Given the description of an element on the screen output the (x, y) to click on. 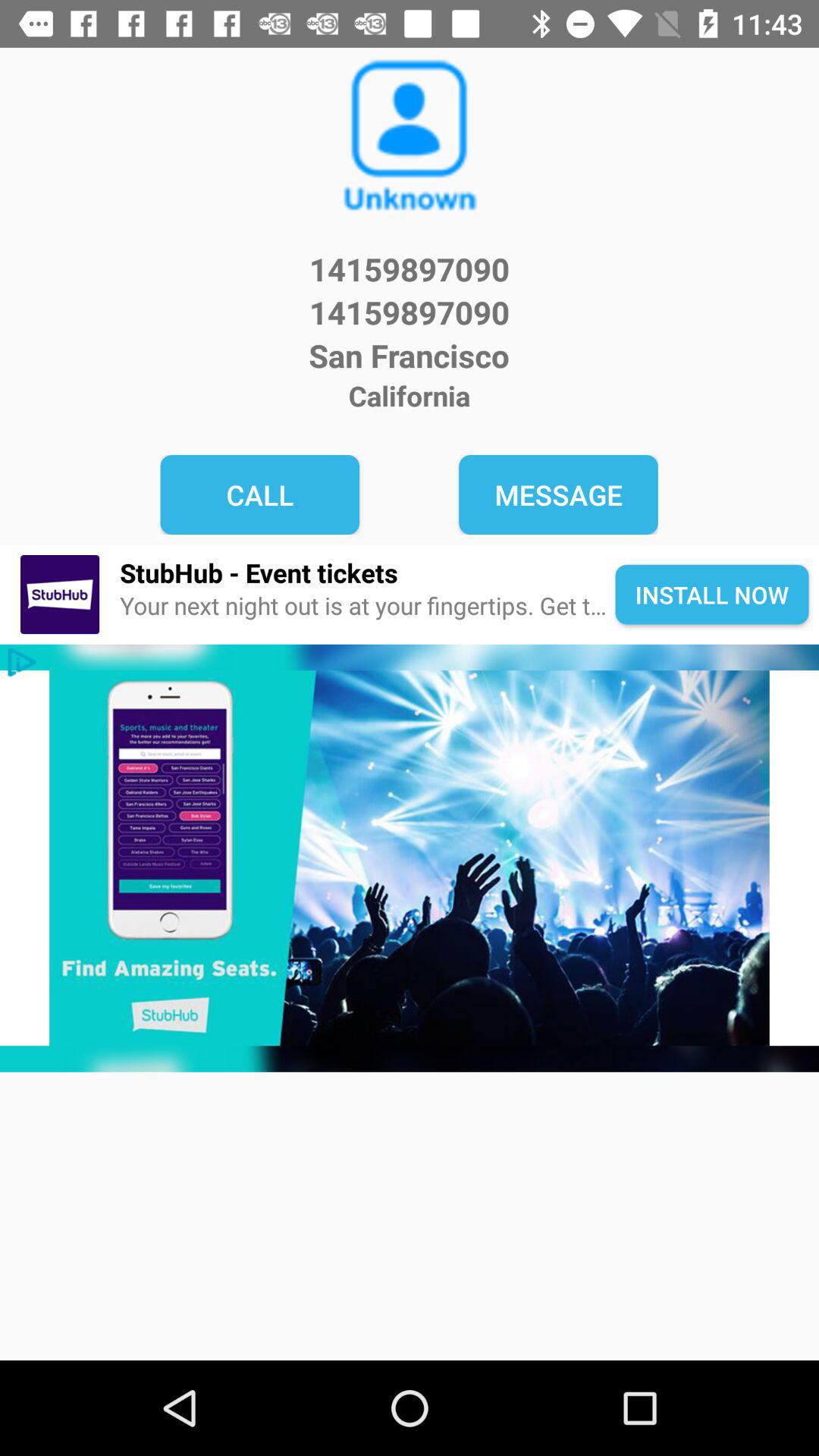
select the icon above the stubhub - event tickets item (558, 494)
